Given the description of an element on the screen output the (x, y) to click on. 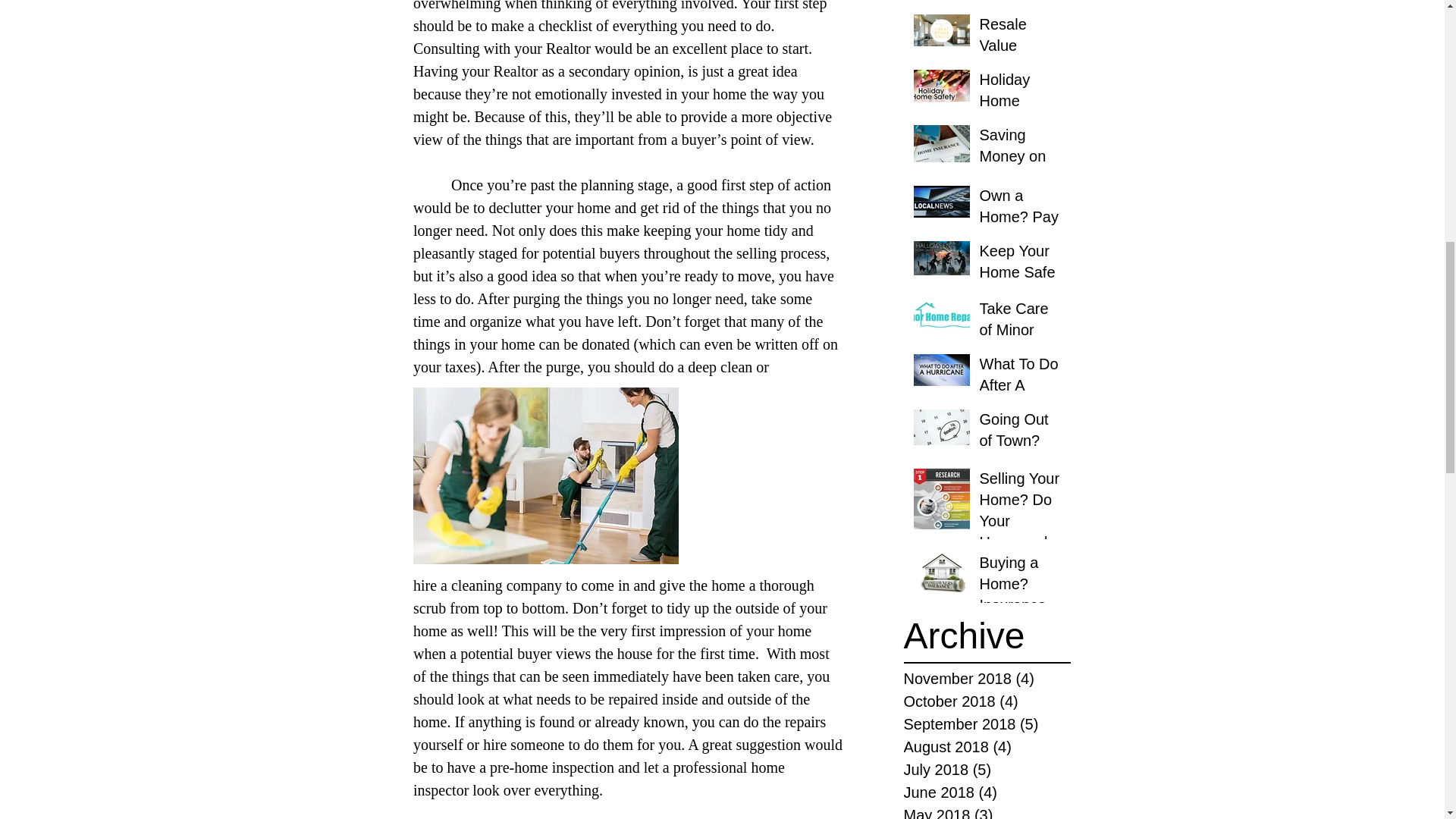
Saving Money on Homeowners Insurance (1020, 169)
Keep Your Home Safe for Halloween (1020, 285)
What To Do After A Hurricane (1020, 387)
Selling Your Home? Do Your Homework (1020, 512)
Resale Value (1020, 37)
Going Out of Town? Protect Your Home (1020, 453)
Buying a Home? Insurance Issues (1020, 597)
Holiday Home Safety (1020, 103)
Own a Home? Pay Attention to Local News (1020, 230)
